Given the description of an element on the screen output the (x, y) to click on. 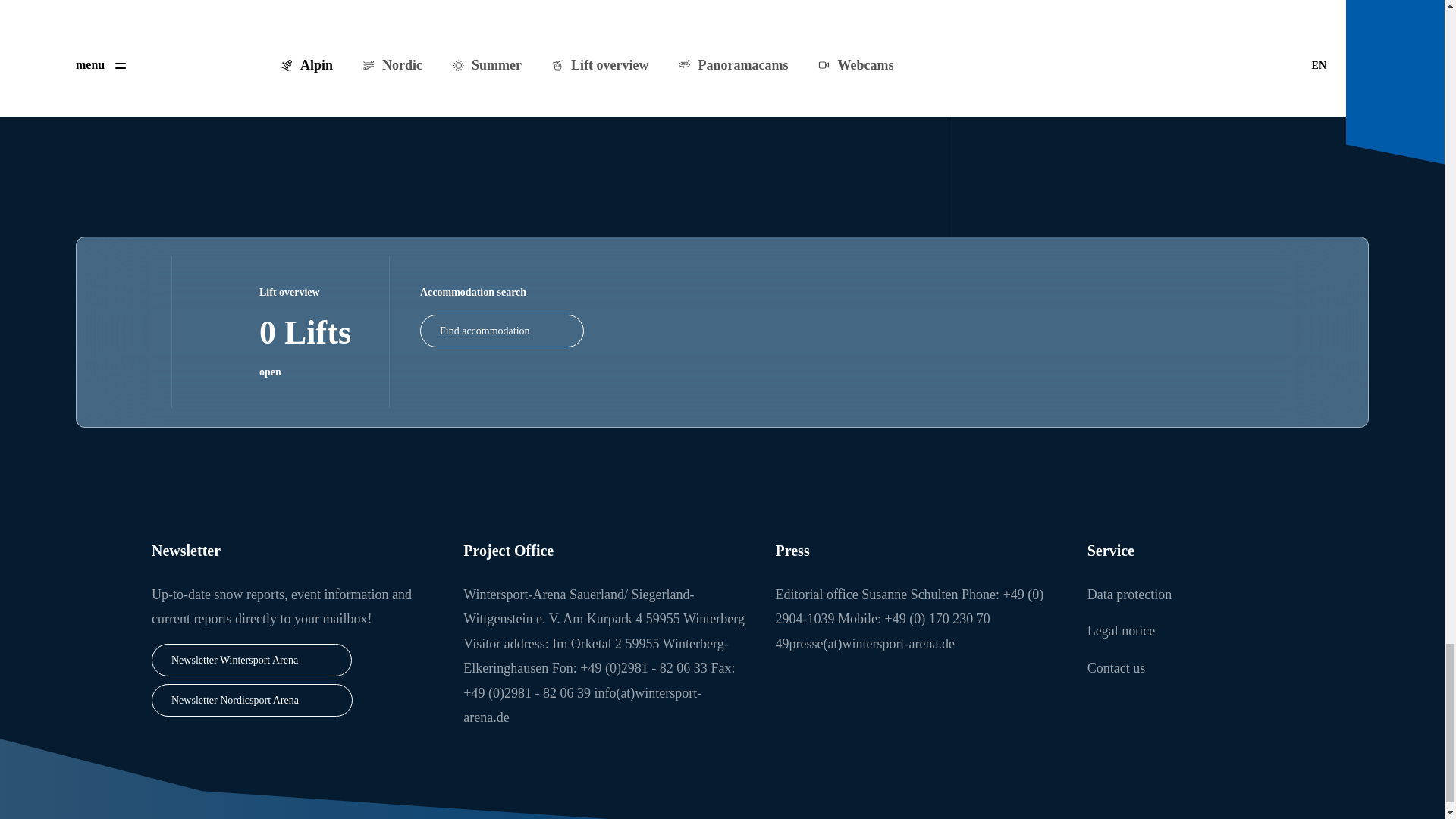
Follow us on Instagram (1071, 4)
Follow us on Twitter (1106, 4)
Follow us on Facebook (1038, 4)
